Given the description of an element on the screen output the (x, y) to click on. 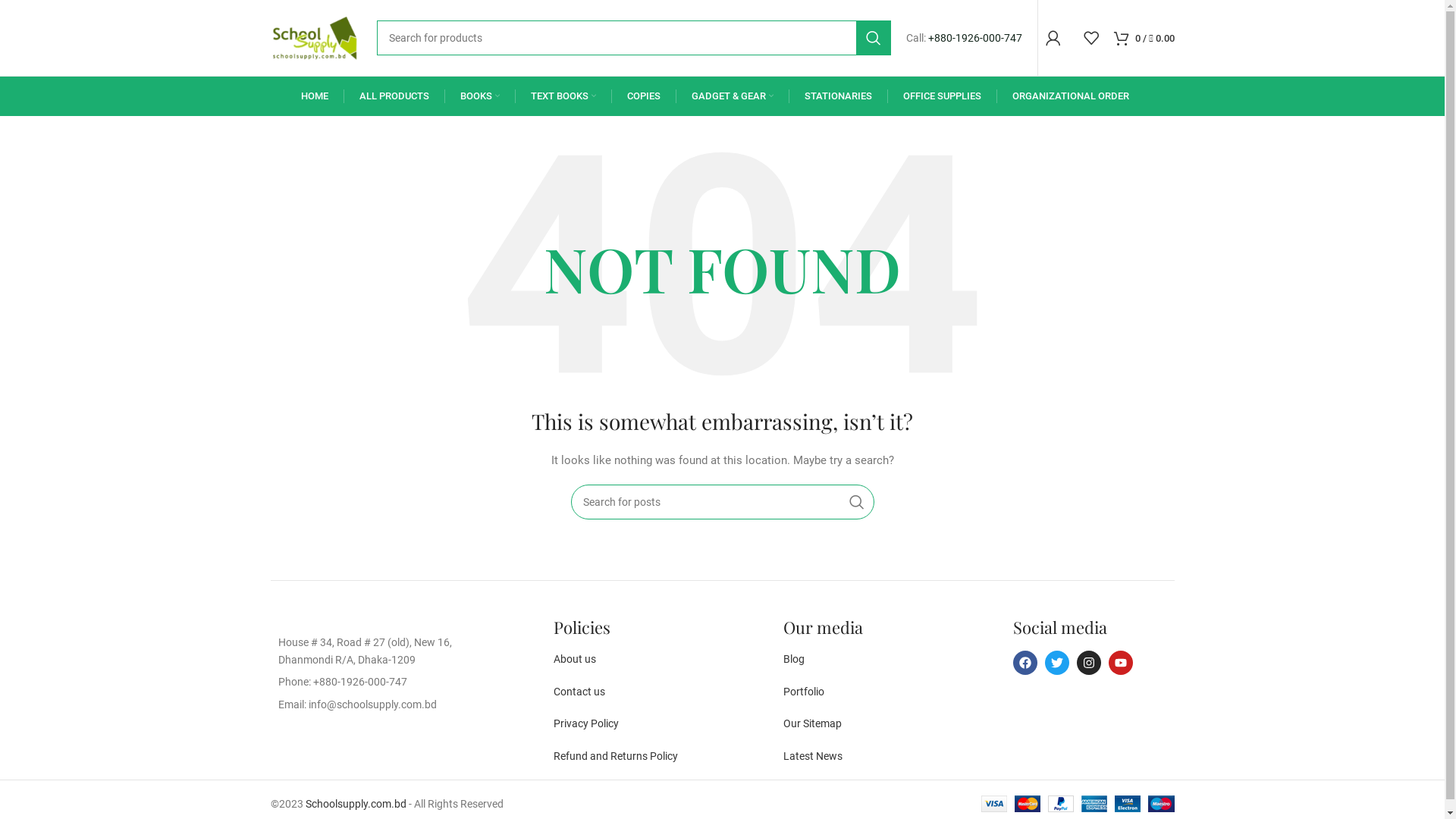
About us Element type: text (574, 658)
HOME Element type: text (313, 96)
Privacy Policy Element type: text (585, 723)
Portfolio Element type: text (803, 691)
OFFICE SUPPLIES Element type: text (941, 96)
SEARCH Element type: text (872, 37)
GADGET & GEAR Element type: text (732, 96)
+880-1926-000-747 Element type: text (975, 37)
My account Element type: hover (1052, 37)
Contact us Element type: text (579, 691)
ORGANIZATIONAL ORDER Element type: text (1069, 96)
Our Sitemap Element type: text (812, 723)
STATIONARIES Element type: text (837, 96)
COPIES Element type: text (642, 96)
TEXT BOOKS Element type: text (563, 96)
Blog Element type: text (793, 658)
Schoolsupply.com.bd Element type: text (354, 803)
SEARCH Element type: text (855, 501)
My Wishlist Element type: hover (1090, 37)
ALL PRODUCTS Element type: text (394, 96)
Refund and Returns Policy Element type: text (615, 755)
Search for posts Element type: hover (721, 501)
Search for products Element type: hover (633, 37)
Latest News Element type: text (812, 755)
BOOKS Element type: text (478, 96)
